Given the description of an element on the screen output the (x, y) to click on. 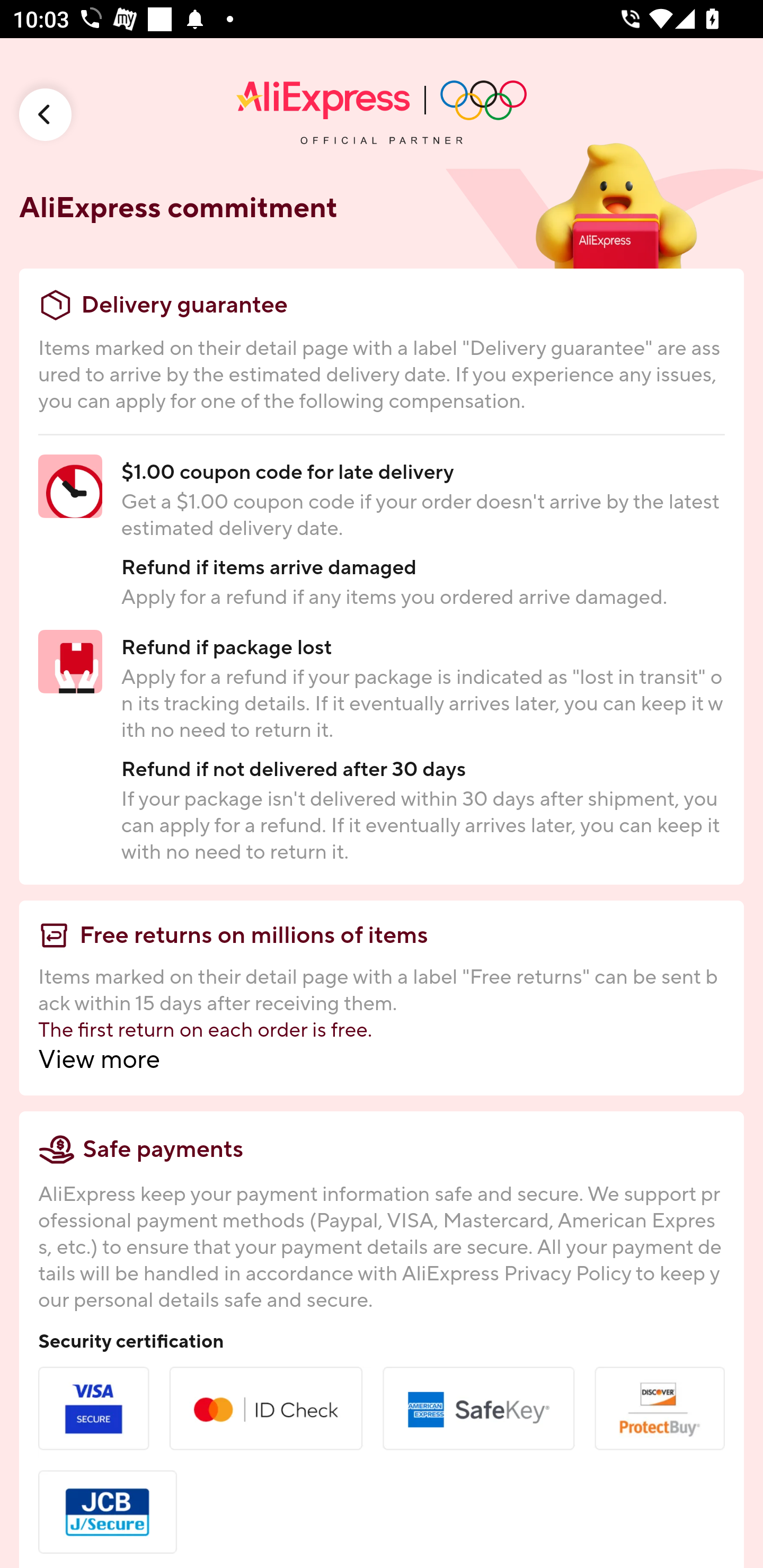
96x96 (45, 114)
View more (381, 1059)
